Given the description of an element on the screen output the (x, y) to click on. 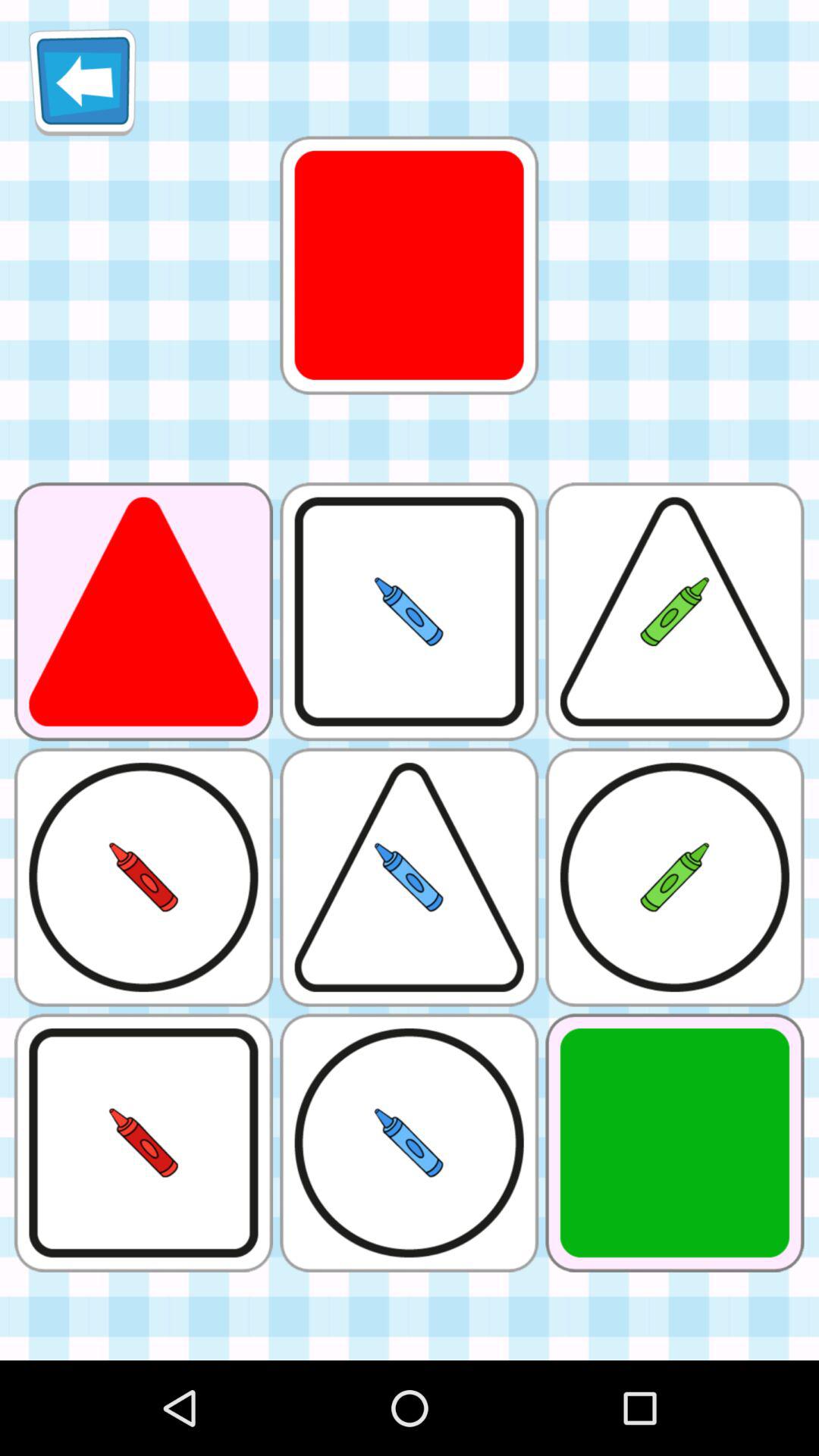
go tp previous (82, 82)
